Given the description of an element on the screen output the (x, y) to click on. 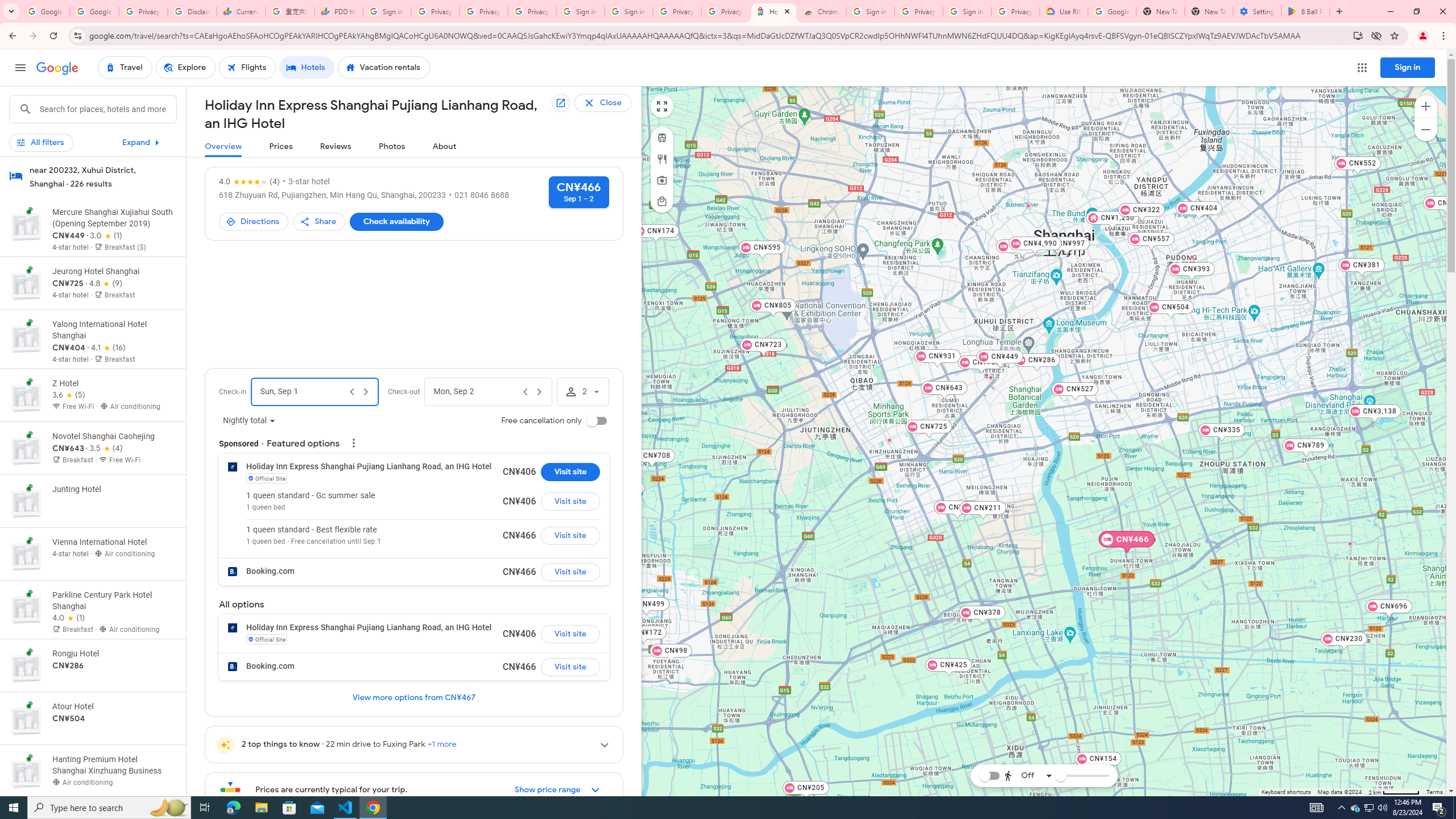
Attractions (661, 180)
Visit site for Booking.com (569, 666)
View prices for Atour Hotel (113, 758)
Photos (392, 146)
View prices for Parkline Century Park Hotel Shanghai (113, 651)
PDD Holdings Inc - ADR (PDD) Price & News - Google Finance (338, 11)
Sign in - Google Accounts (580, 11)
